Given the description of an element on the screen output the (x, y) to click on. 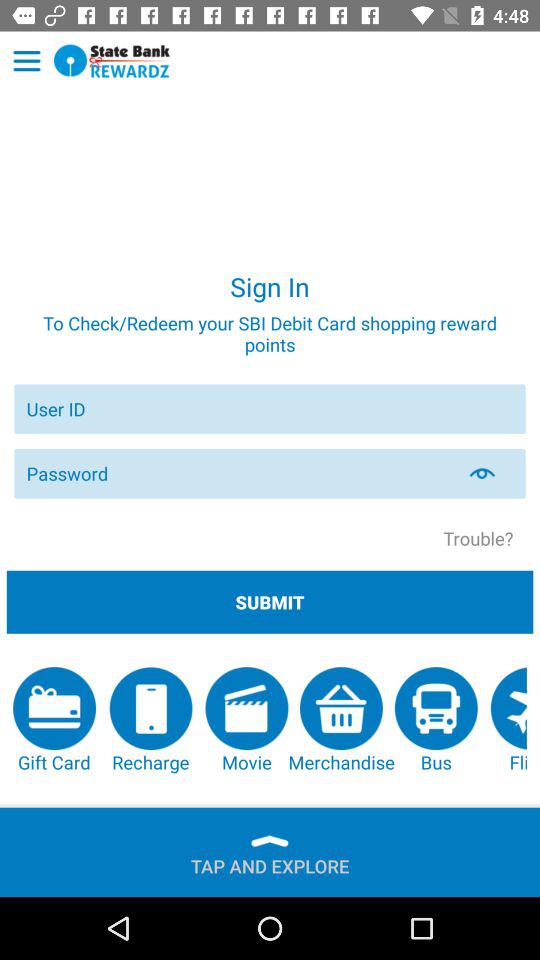
open the recharge icon (150, 720)
